Given the description of an element on the screen output the (x, y) to click on. 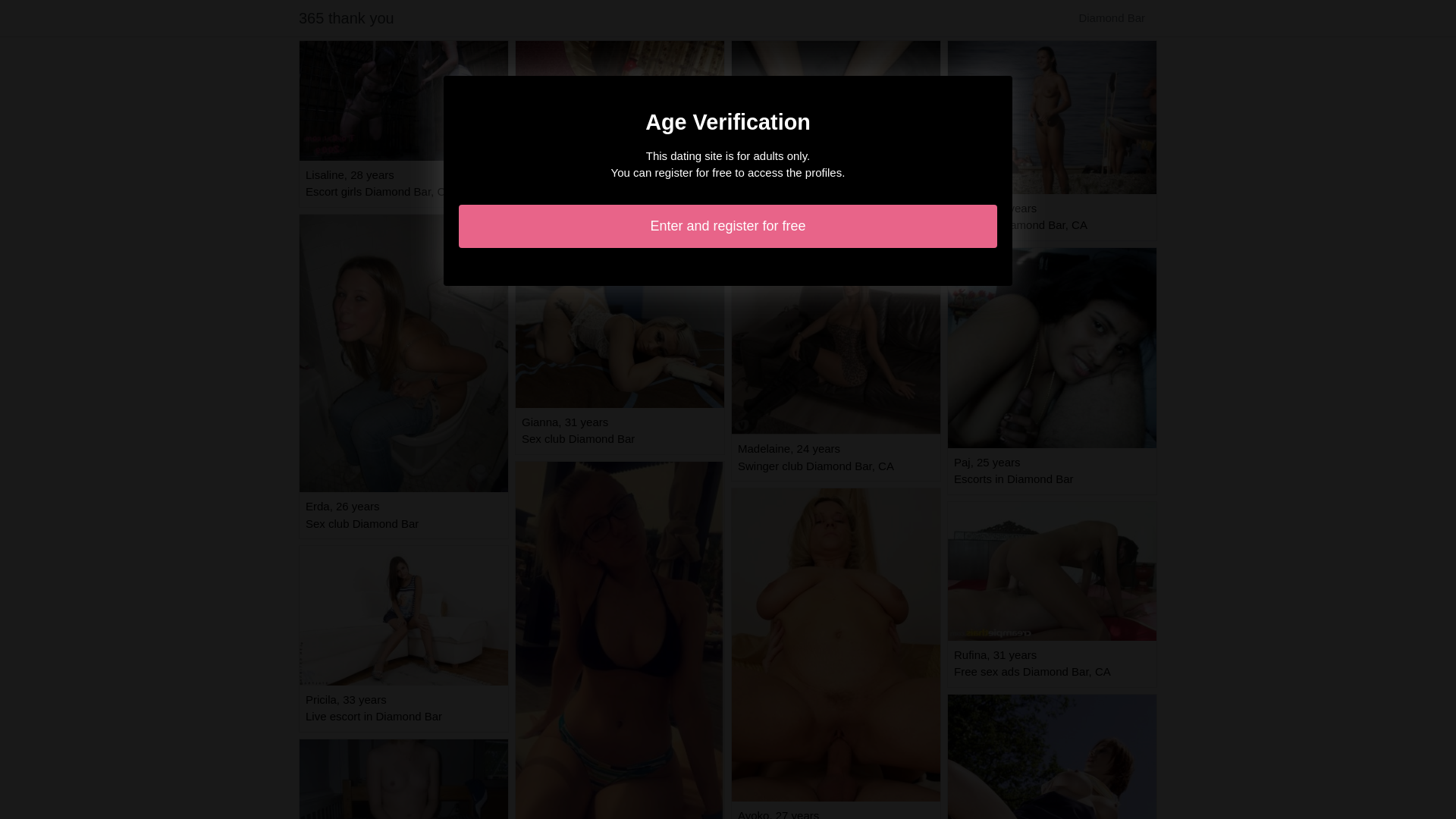
365 thank you Element type: text (346, 18)
Enter and register for free Element type: text (727, 225)
